Given the description of an element on the screen output the (x, y) to click on. 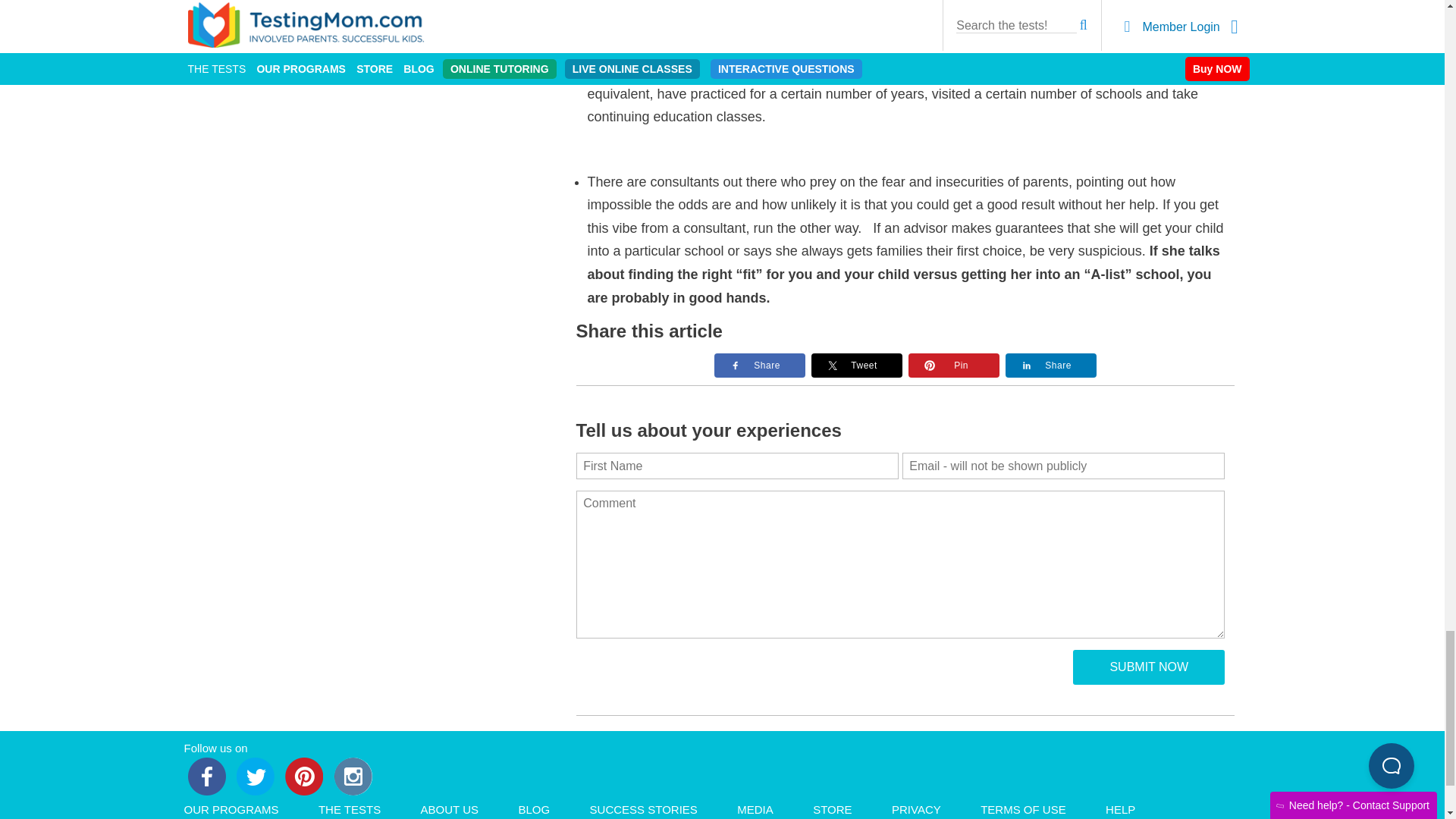
SUBMIT NOW (1148, 667)
